Given the description of an element on the screen output the (x, y) to click on. 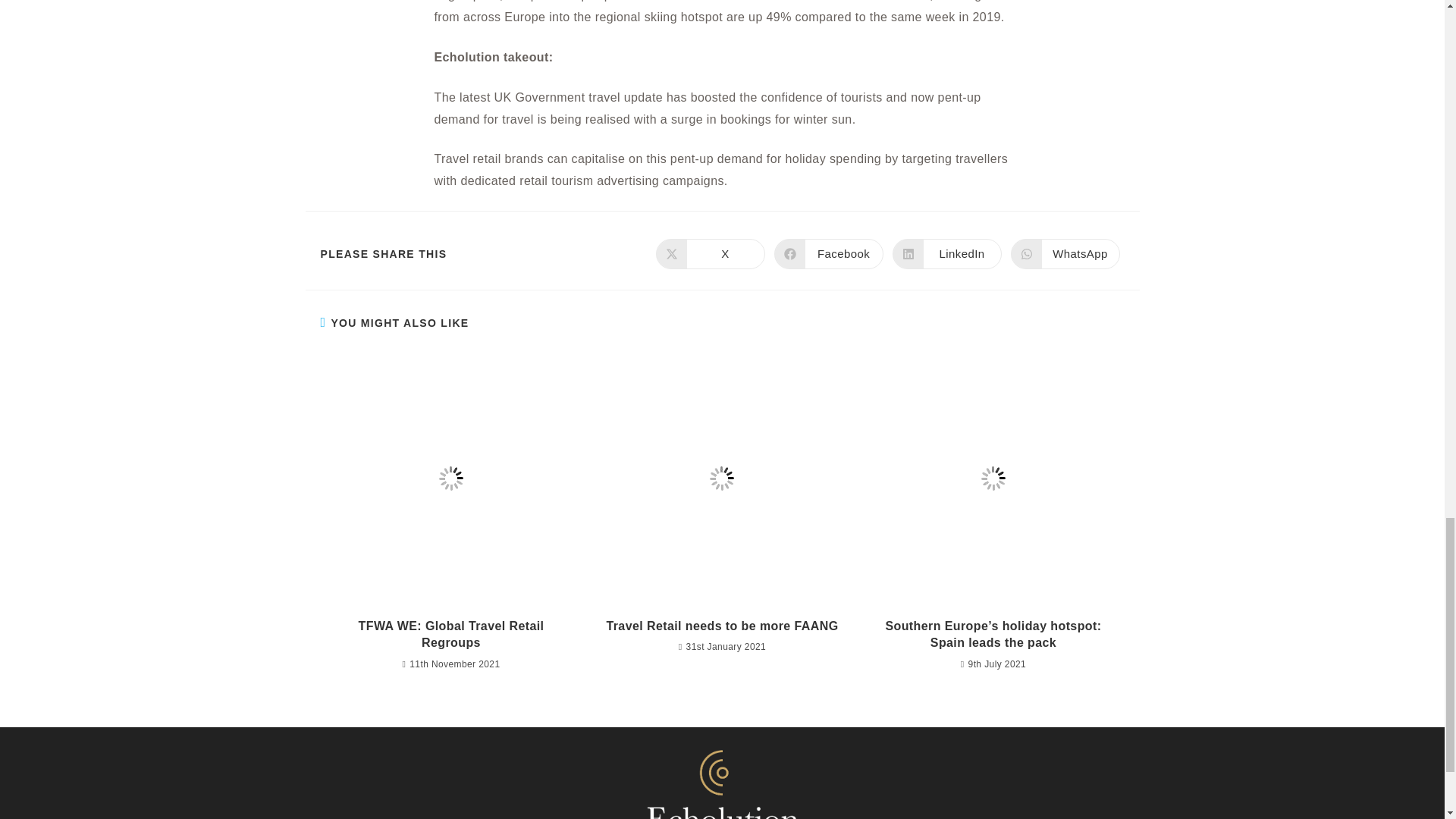
TFWA WE: Global Travel Retail Regroups (946, 254)
Travel Retail needs to be more FAANG (450, 634)
